Given the description of an element on the screen output the (x, y) to click on. 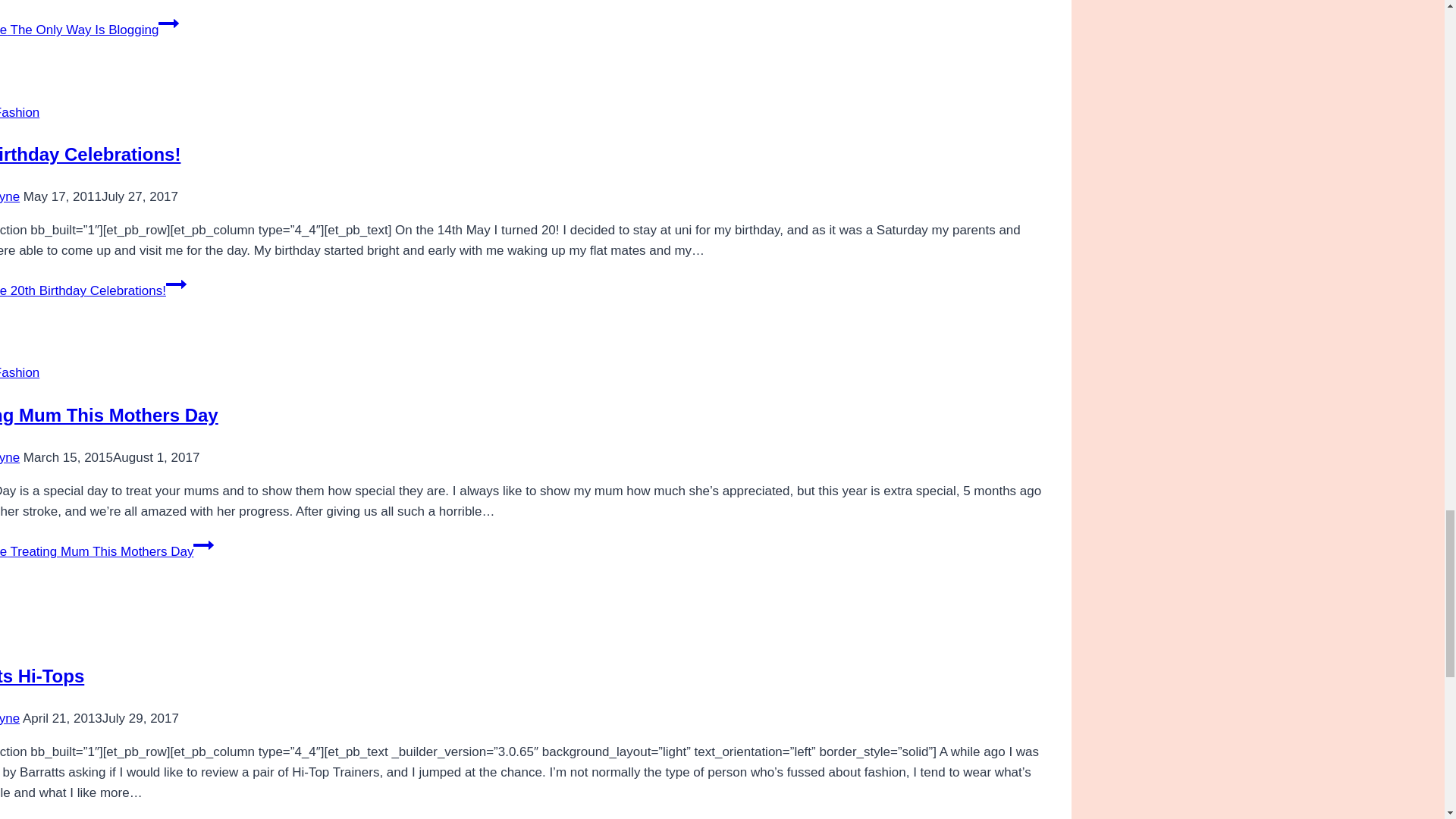
Read More 20th Birthday Celebrations! (93, 290)
Read More Treating Mum This Mothers Day (107, 551)
Fashion (19, 372)
Lisa Jayne (10, 457)
Lisa Jayne (10, 196)
Fashion (19, 112)
Lisa Jayne (10, 718)
Barratts Hi-Tops (42, 675)
20th Birthday Celebrations! (90, 154)
Read More The Only Way Is Blogging (89, 29)
Treating Mum This Mothers Day (109, 414)
